Given the description of an element on the screen output the (x, y) to click on. 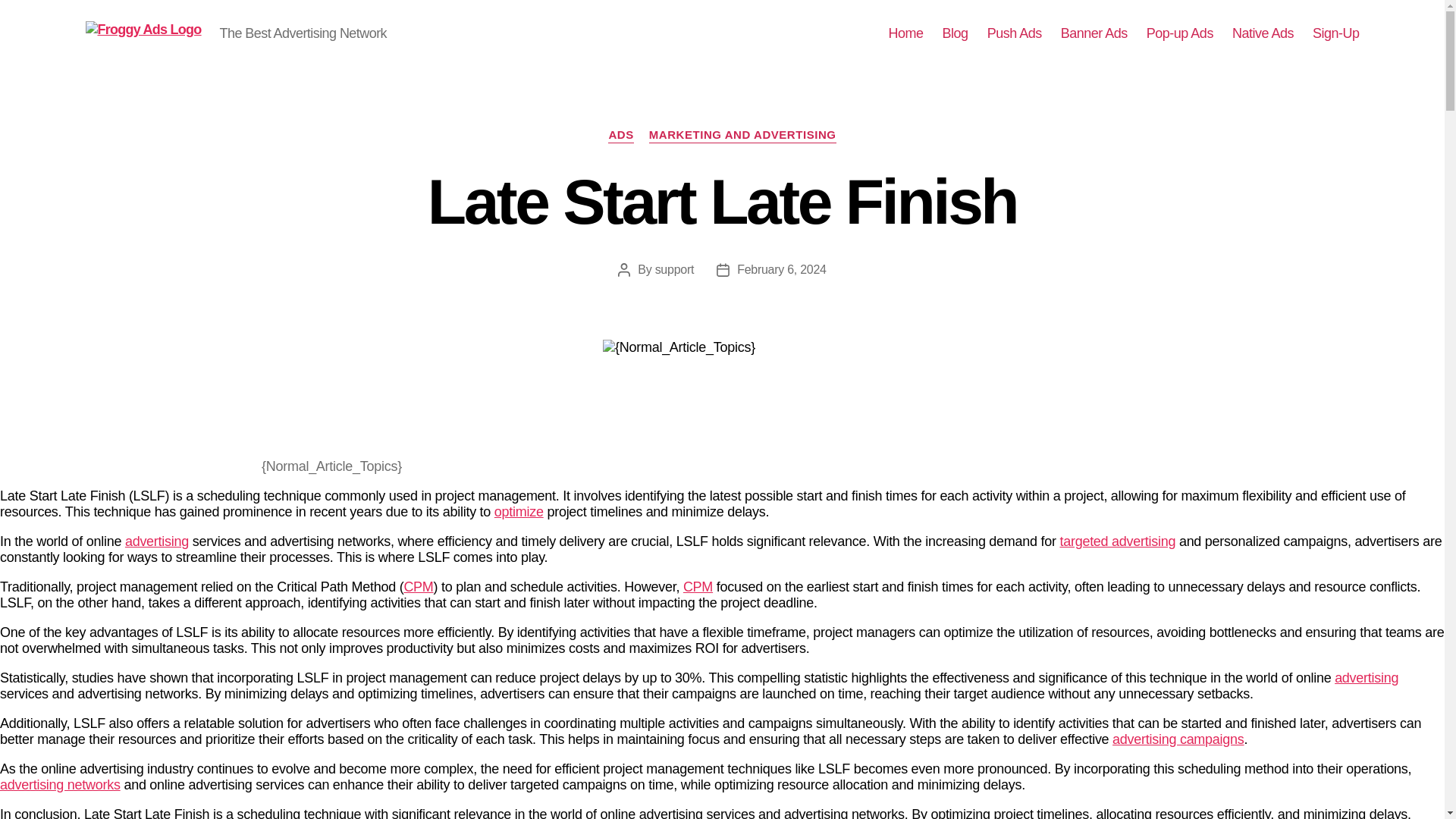
optimize (519, 511)
advertising networks (60, 784)
Pop-up Ads (1179, 33)
optimize (519, 511)
Push Ads (1014, 33)
support (674, 269)
advertising (157, 540)
CPM (417, 586)
Banner Ads (1093, 33)
Blog (955, 33)
